Given the description of an element on the screen output the (x, y) to click on. 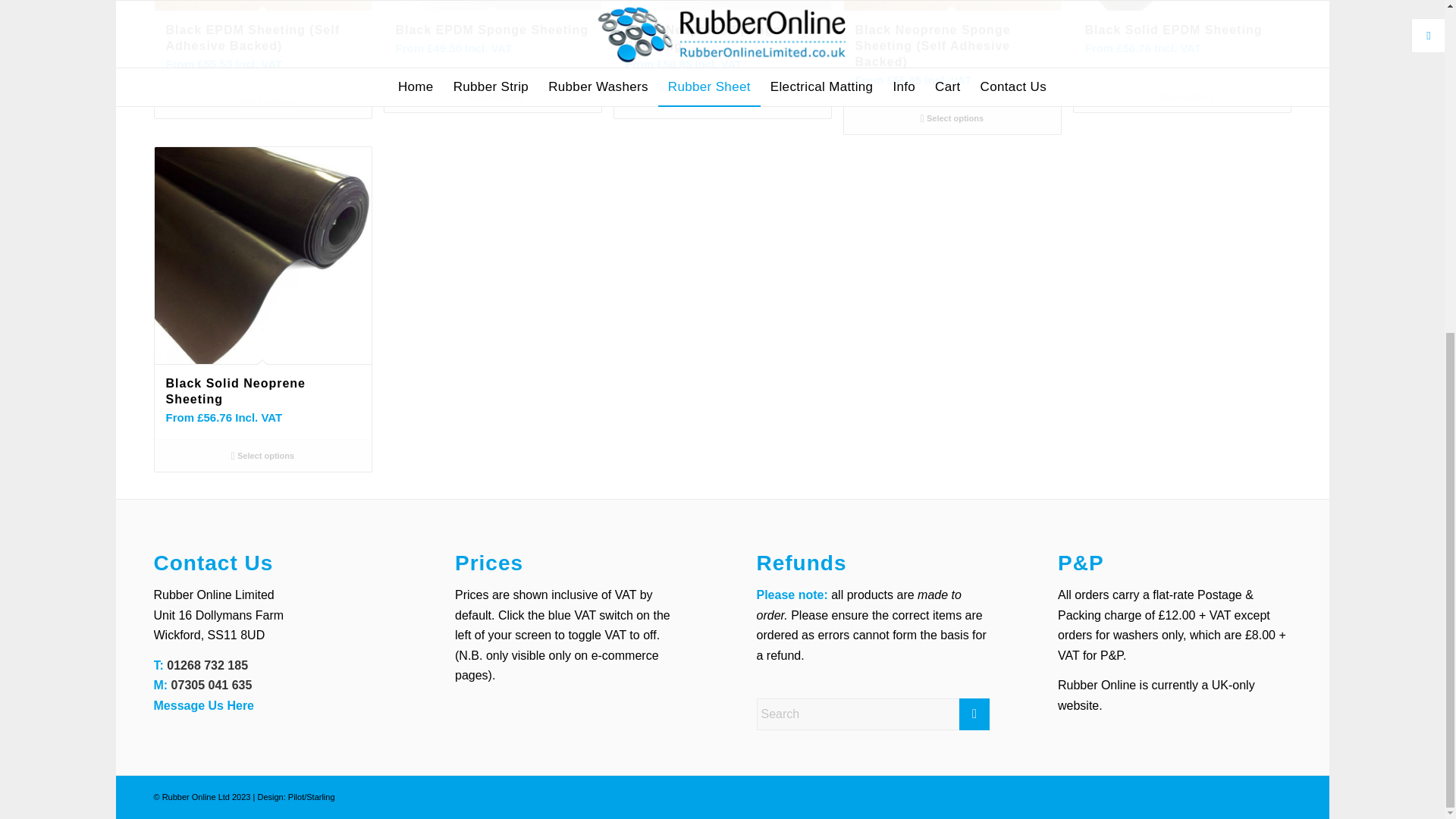
07305 041 635 (211, 684)
Select options (491, 95)
01268 732 185 (207, 665)
Message Us Here (202, 705)
Select options (722, 102)
Select options (262, 455)
Select options (951, 117)
Select options (262, 102)
